Given the description of an element on the screen output the (x, y) to click on. 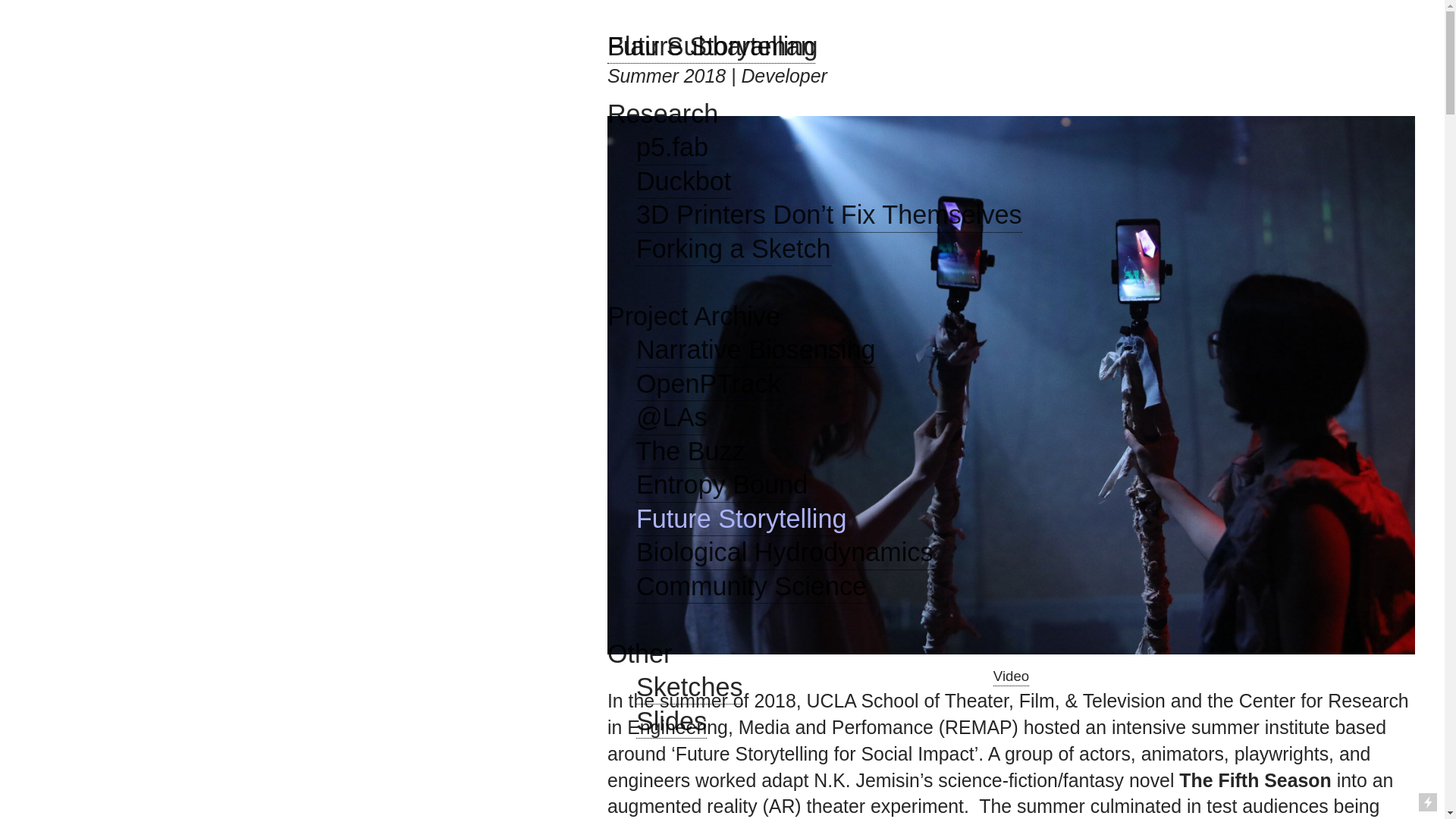
Community Science (751, 587)
OpenPTrack (708, 385)
Narrative Biosensing (756, 350)
Slides (671, 722)
p5.fab (671, 148)
Blair Subbaraman (711, 47)
Video (1010, 677)
Duckbot (683, 183)
Biological Hydrodynamics (784, 553)
Entropy Bound (722, 486)
